Given the description of an element on the screen output the (x, y) to click on. 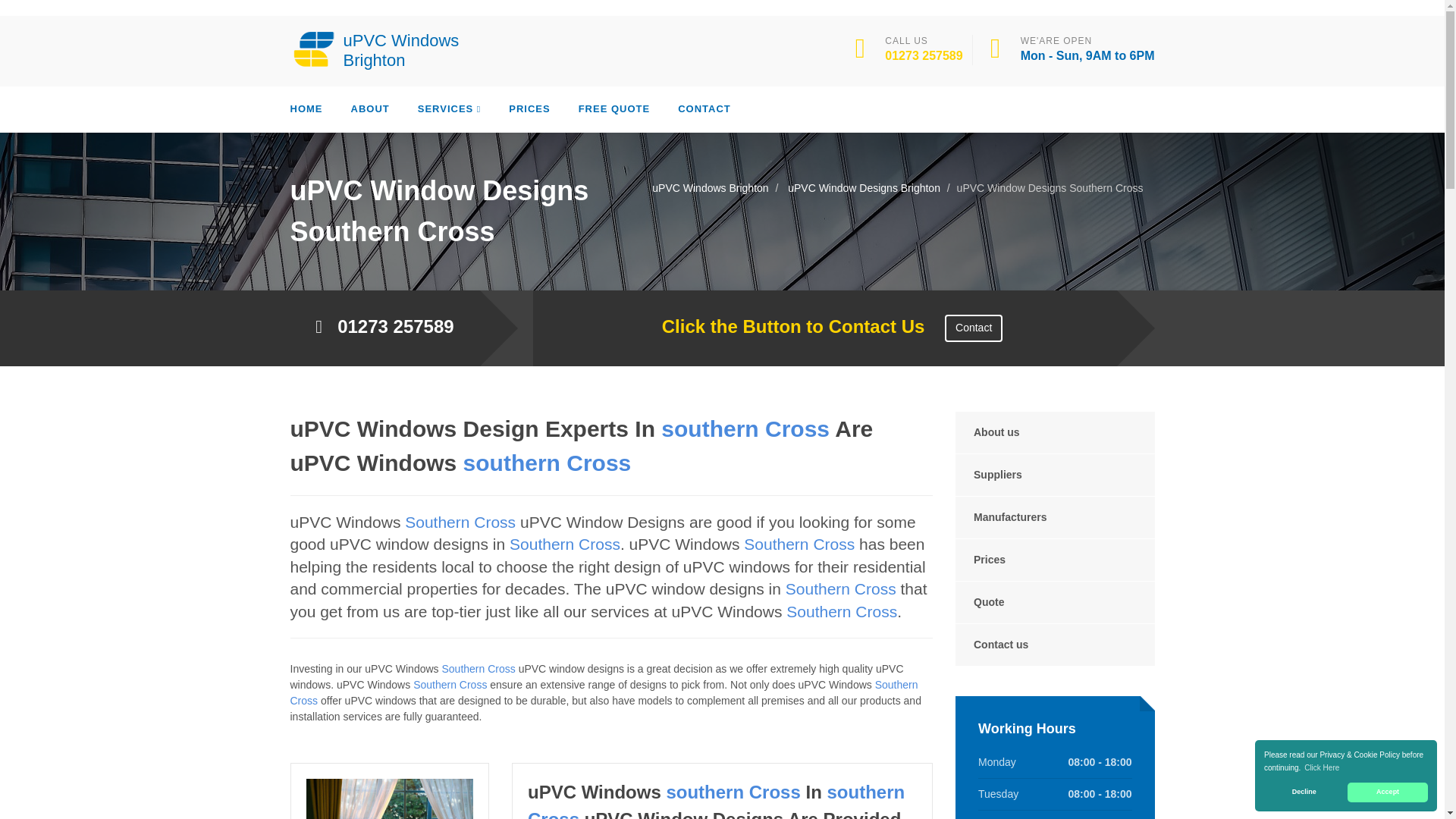
01273 257589 (923, 55)
Decline (1303, 792)
Click Here (1321, 767)
Accept (1388, 792)
SERVICES (449, 108)
uPVC Windows Brighton (380, 49)
uPVC Windows Brighton (380, 49)
